Given the description of an element on the screen output the (x, y) to click on. 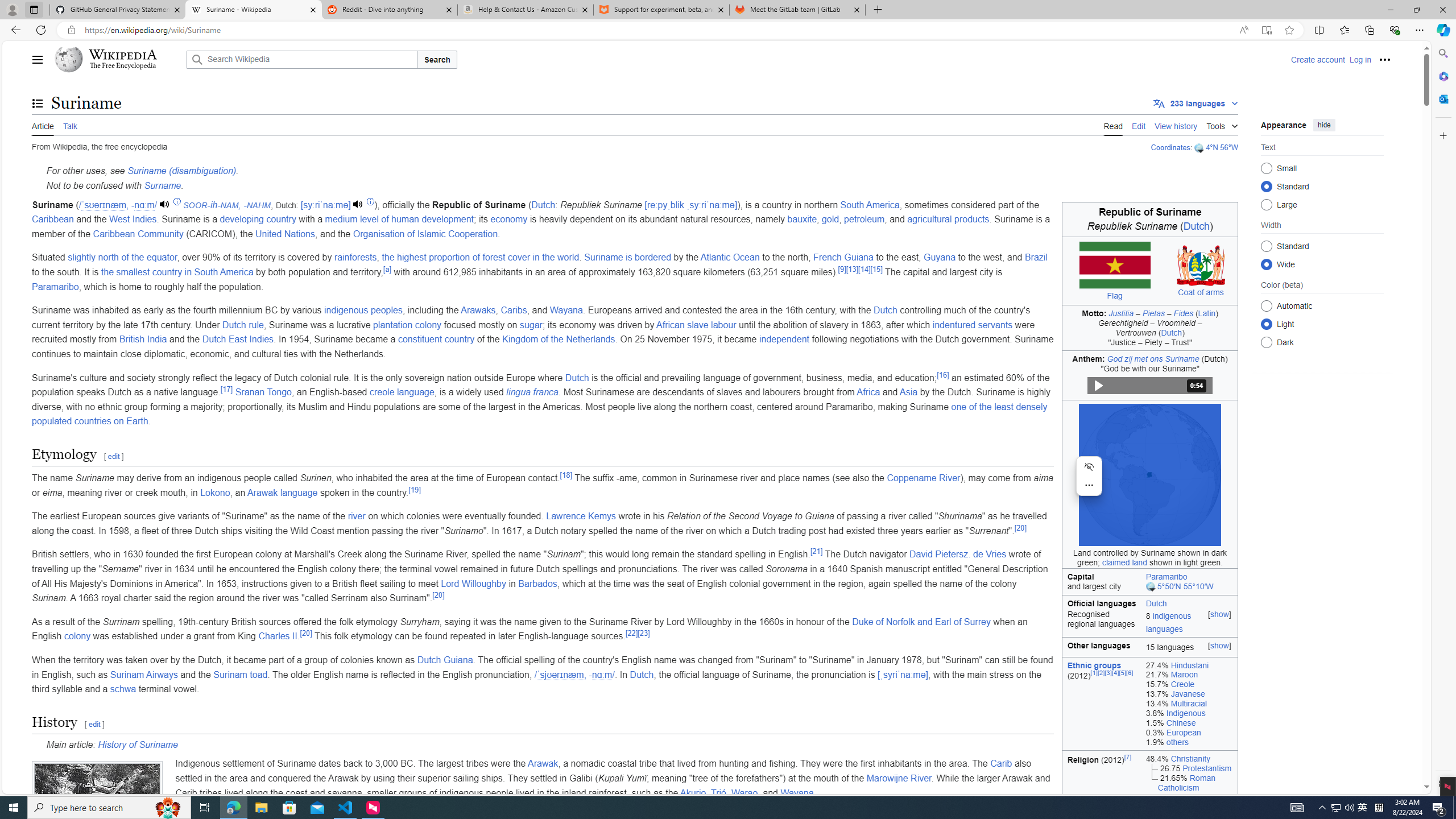
Atlantic Ocean (730, 257)
Latin (1206, 312)
[5] (1122, 672)
[9] (841, 268)
the smallest country in South America (176, 271)
Justitia (1121, 312)
Hide menu (1088, 466)
Mini menu on text selection (1088, 482)
GitHub General Privacy Statement - GitHub Docs (117, 9)
Multiracial (1188, 703)
